Given the description of an element on the screen output the (x, y) to click on. 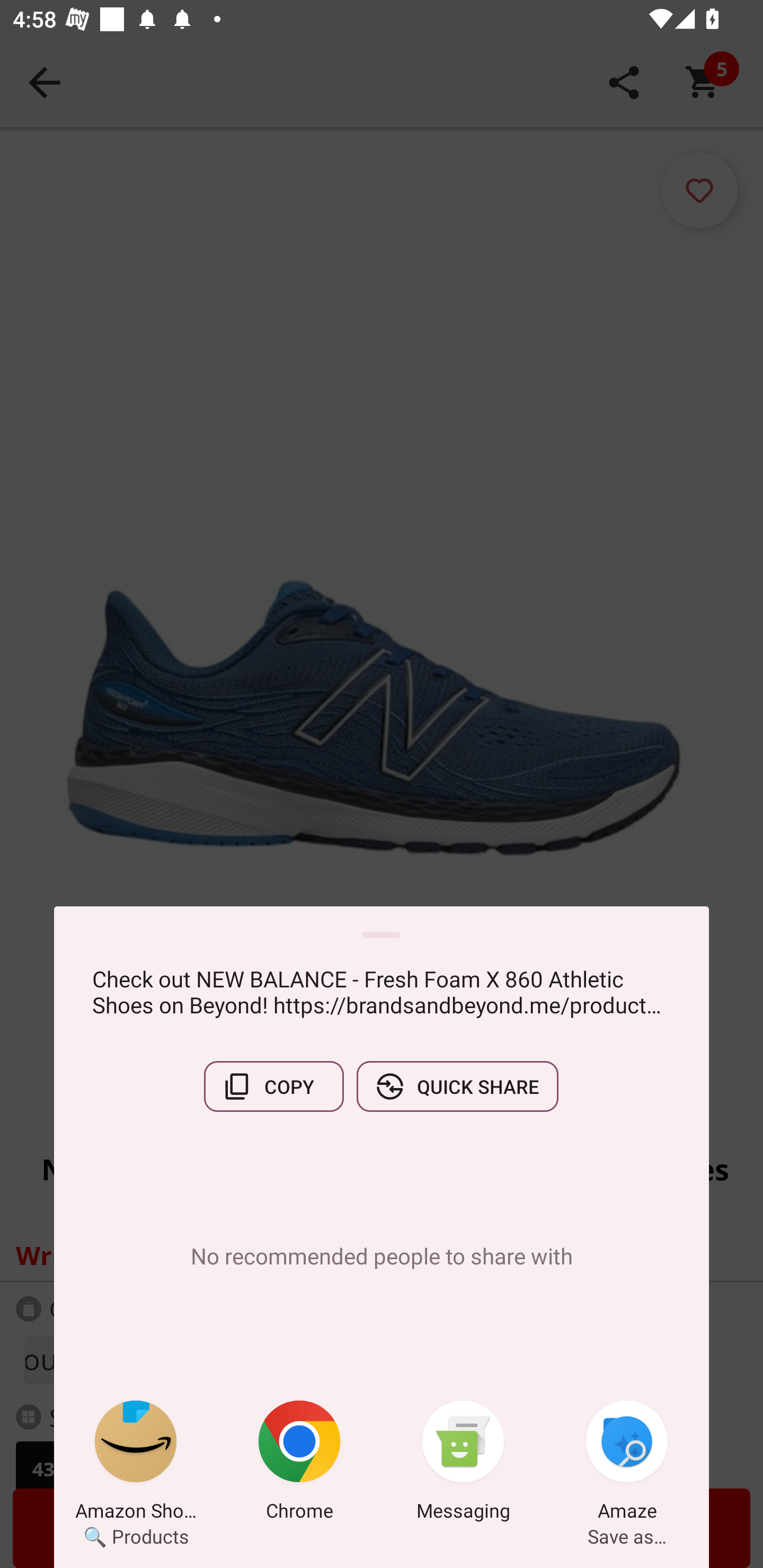
COPY (273, 1086)
QUICK SHARE (457, 1086)
Amazon Shopping 🔍 Products (135, 1463)
Chrome (299, 1463)
Messaging (463, 1463)
Amaze Save as… (626, 1463)
